Given the description of an element on the screen output the (x, y) to click on. 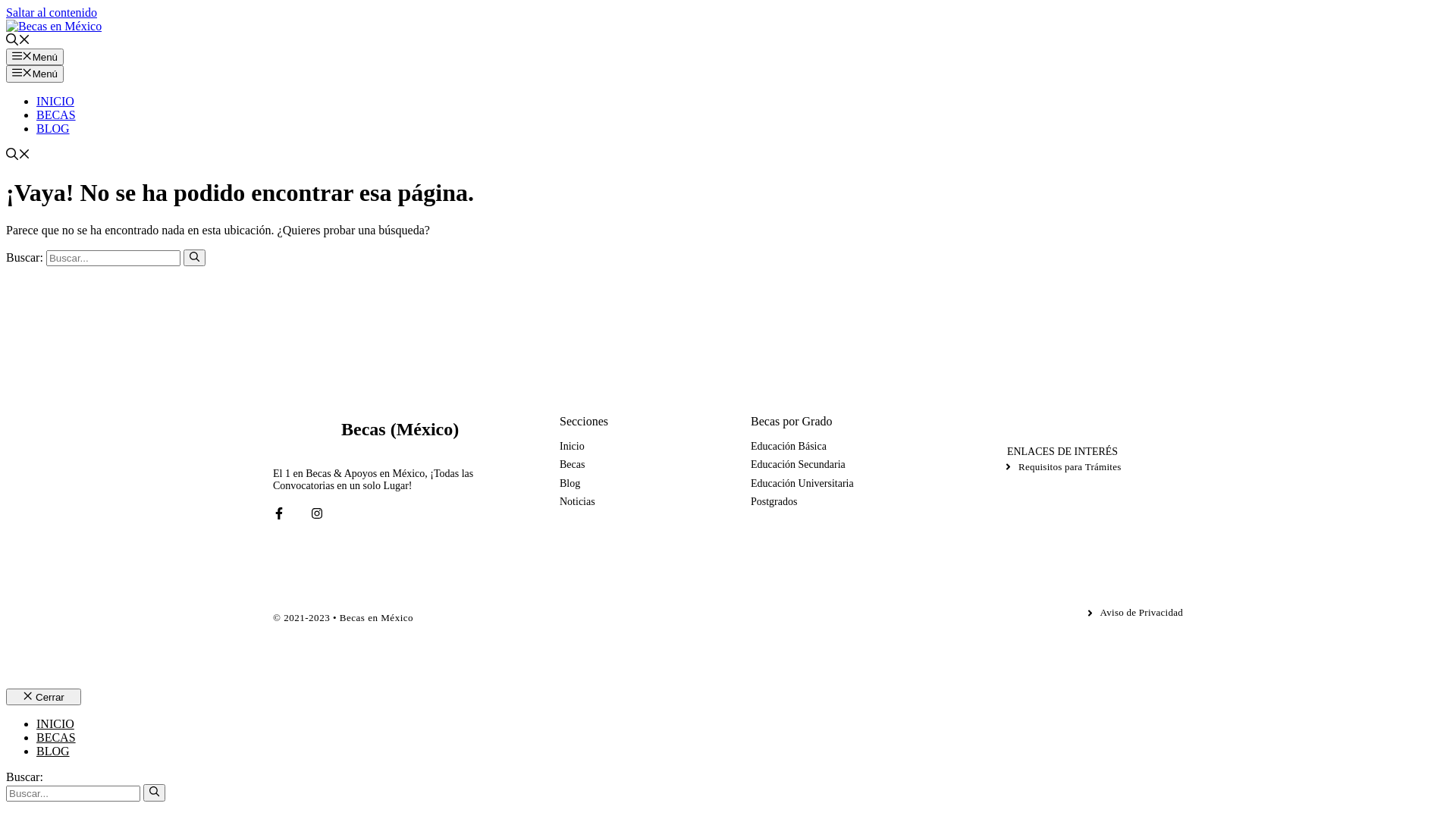
Buscar: Element type: hover (113, 258)
becas-en-mexico Element type: hover (318, 429)
INICIO Element type: text (55, 100)
Blog Element type: text (569, 483)
BECAS Element type: text (55, 737)
BLOG Element type: text (52, 128)
Cerrar Element type: text (43, 696)
Postgrados Element type: text (773, 501)
Saltar al contenido Element type: text (51, 12)
INICIO Element type: text (55, 723)
Becas Element type: text (571, 464)
Inicio Element type: text (571, 446)
Aviso de Privacidad Element type: text (1134, 612)
Noticias Element type: text (577, 501)
BLOG Element type: text (52, 750)
BECAS Element type: text (55, 114)
